Given the description of an element on the screen output the (x, y) to click on. 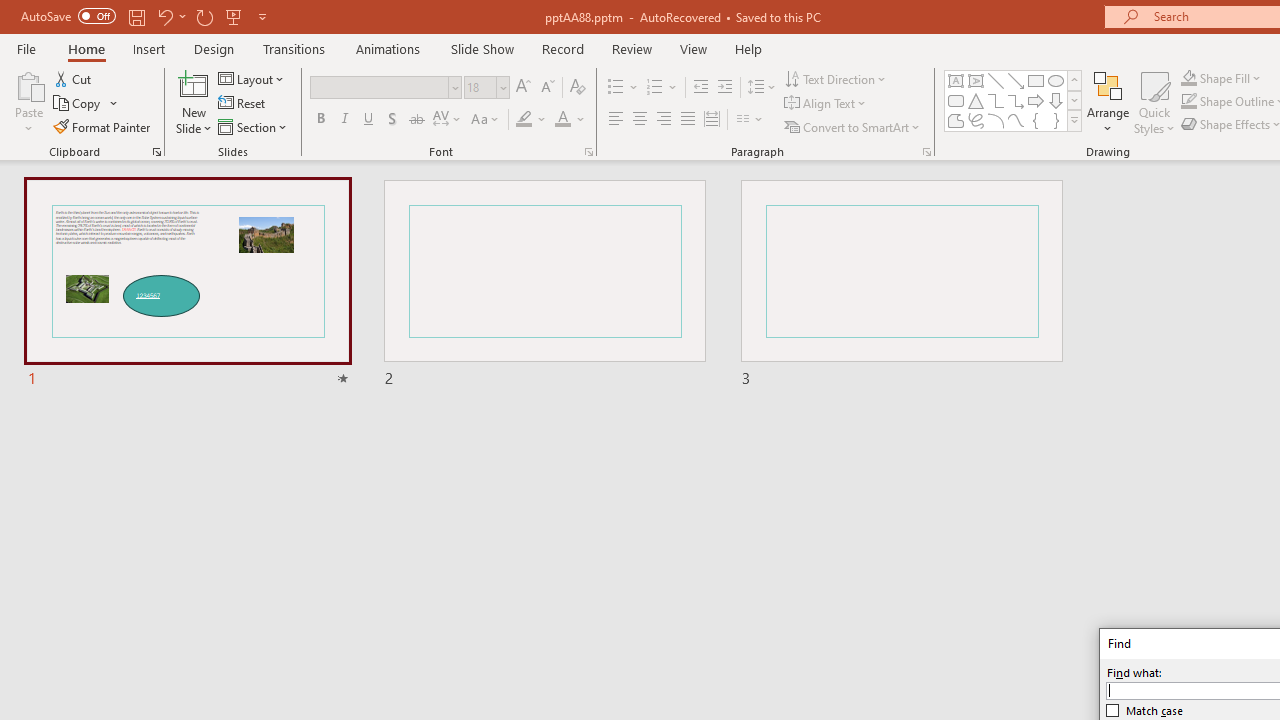
Match case (1145, 710)
